Given the description of an element on the screen output the (x, y) to click on. 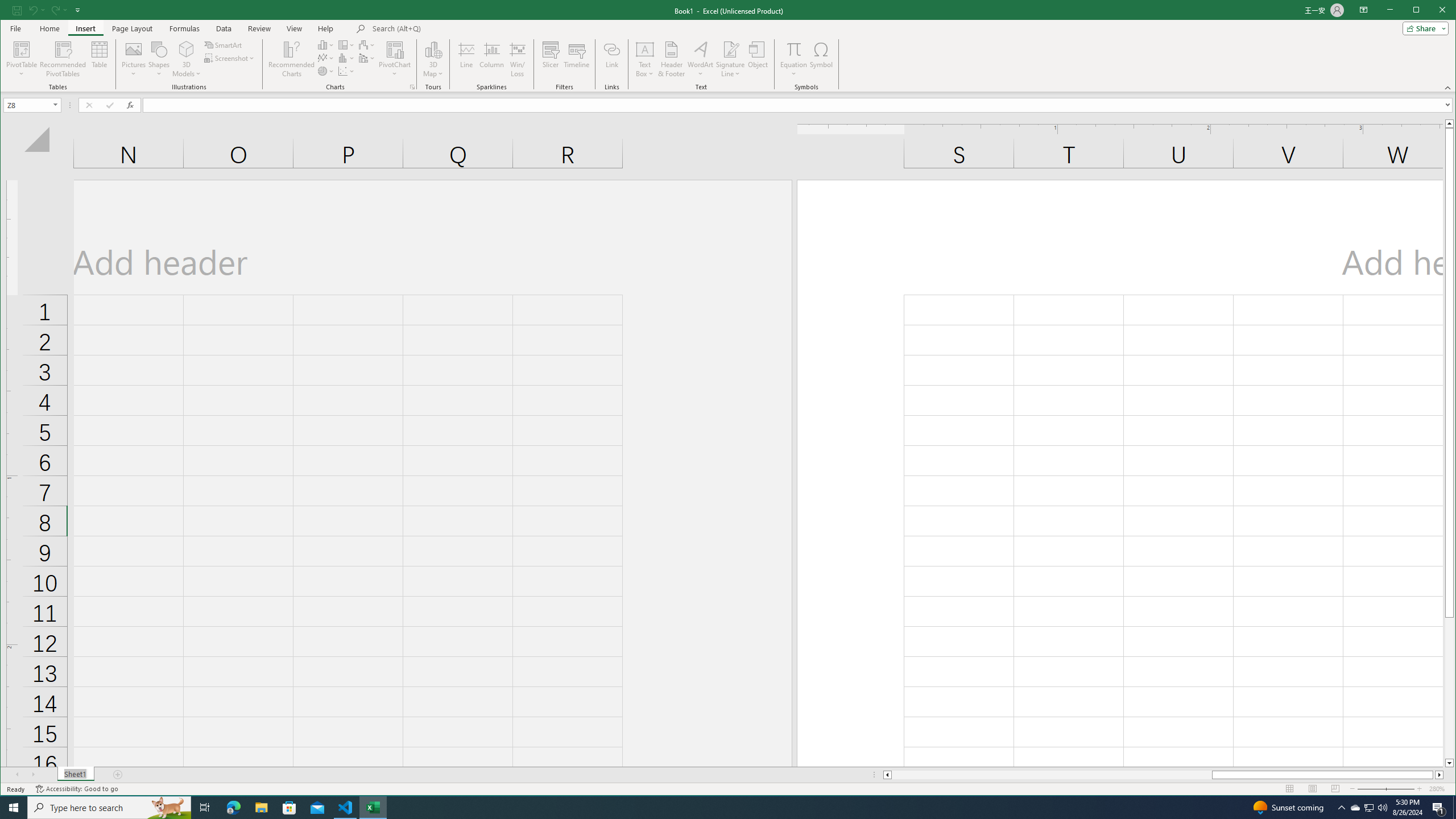
Object... (757, 59)
Recommended PivotTables (63, 59)
3D Models (186, 59)
WordArt (699, 59)
Insert Line or Area Chart (325, 57)
Running applications (717, 807)
PivotChart (394, 59)
Notification Chevron (1341, 807)
Type here to search (108, 807)
PivotChart (394, 48)
